Given the description of an element on the screen output the (x, y) to click on. 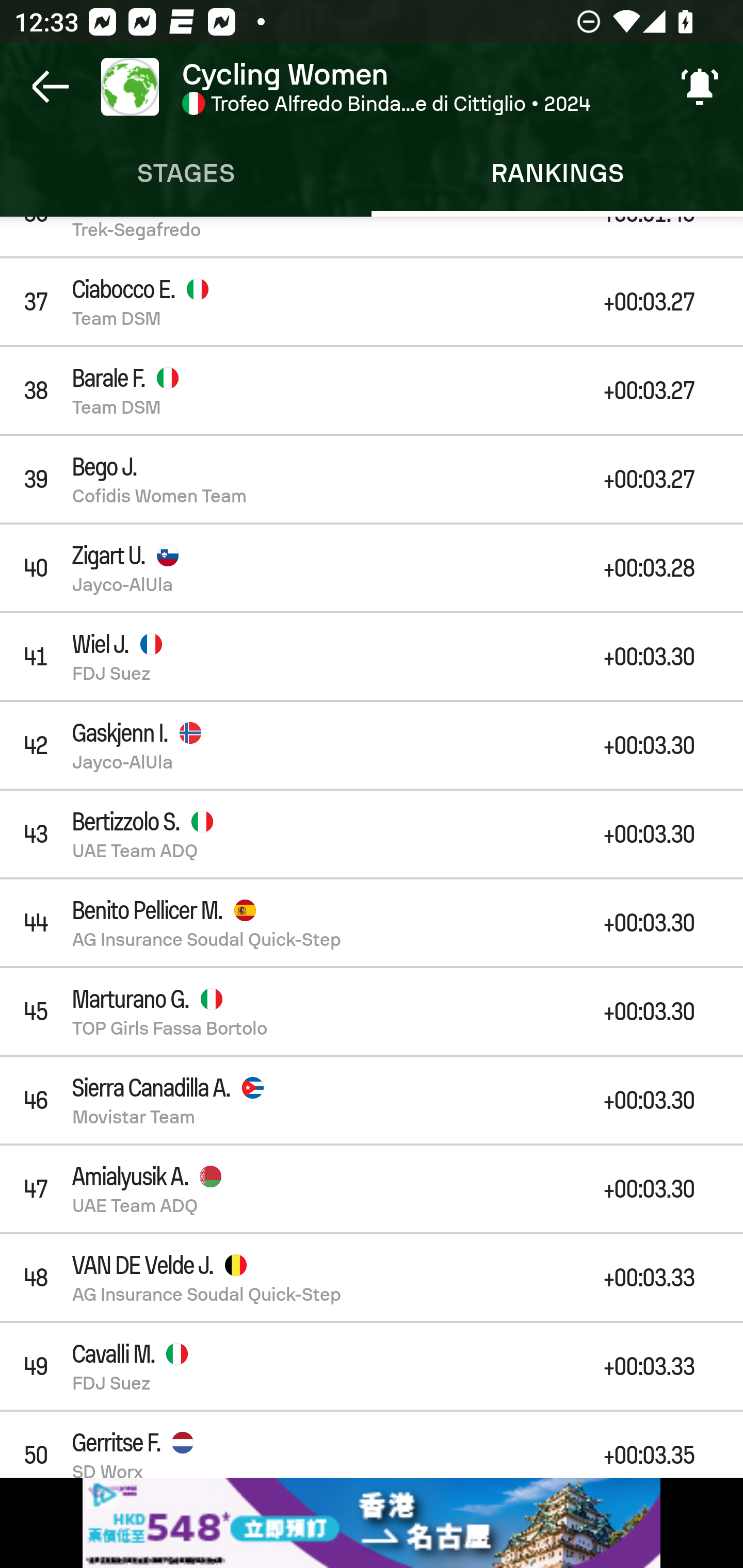
Navigate up (50, 86)
Stages STAGES (185, 173)
37 Ciabocco E. Team DSM +00:03.27 (371, 301)
38 Barale F. Team DSM +00:03.27 (371, 390)
39 Bego J. Cofidis Women Team +00:03.27 (371, 478)
40 Zigart U. Jayco-AlUla +00:03.28 (371, 568)
41 Wiel J. FDJ Suez +00:03.30 (371, 656)
42 Gaskjenn I. Jayco-AlUla +00:03.30 (371, 745)
43 Bertizzolo S. UAE Team ADQ +00:03.30 (371, 834)
45 Marturano G. TOP Girls Fassa Bortolo +00:03.30 (371, 1011)
46 Sierra Canadilla A. Movistar Team +00:03.30 (371, 1099)
47 Amialyusik A. UAE Team ADQ +00:03.30 (371, 1189)
49 Cavalli M. FDJ Suez +00:03.33 (371, 1366)
50 Gerritse F. SD Worx +00:03.35 (371, 1444)
ysfecx5i_320x50 (371, 1522)
